Given the description of an element on the screen output the (x, y) to click on. 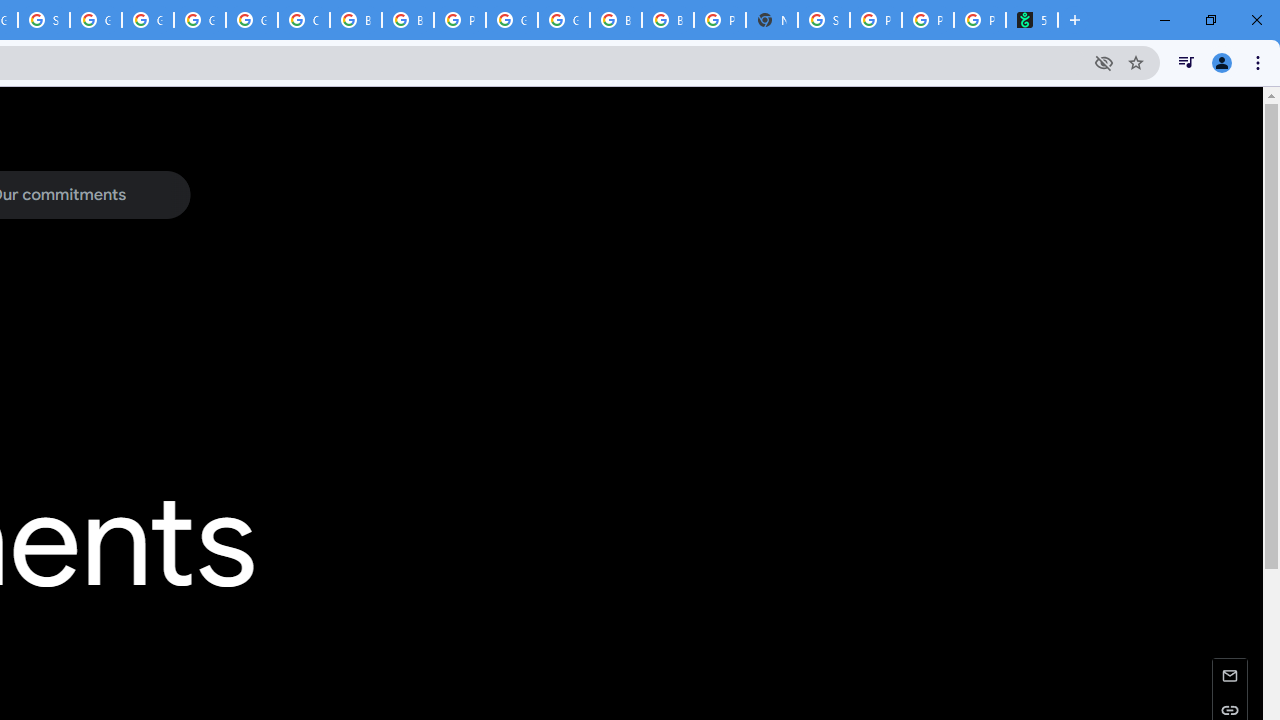
Sign in - Google Accounts (43, 20)
Browse Chrome as a guest - Computer - Google Chrome Help (355, 20)
Control your music, videos, and more (1185, 62)
Google Cloud Platform (200, 20)
Google Cloud Platform (563, 20)
